Given the description of an element on the screen output the (x, y) to click on. 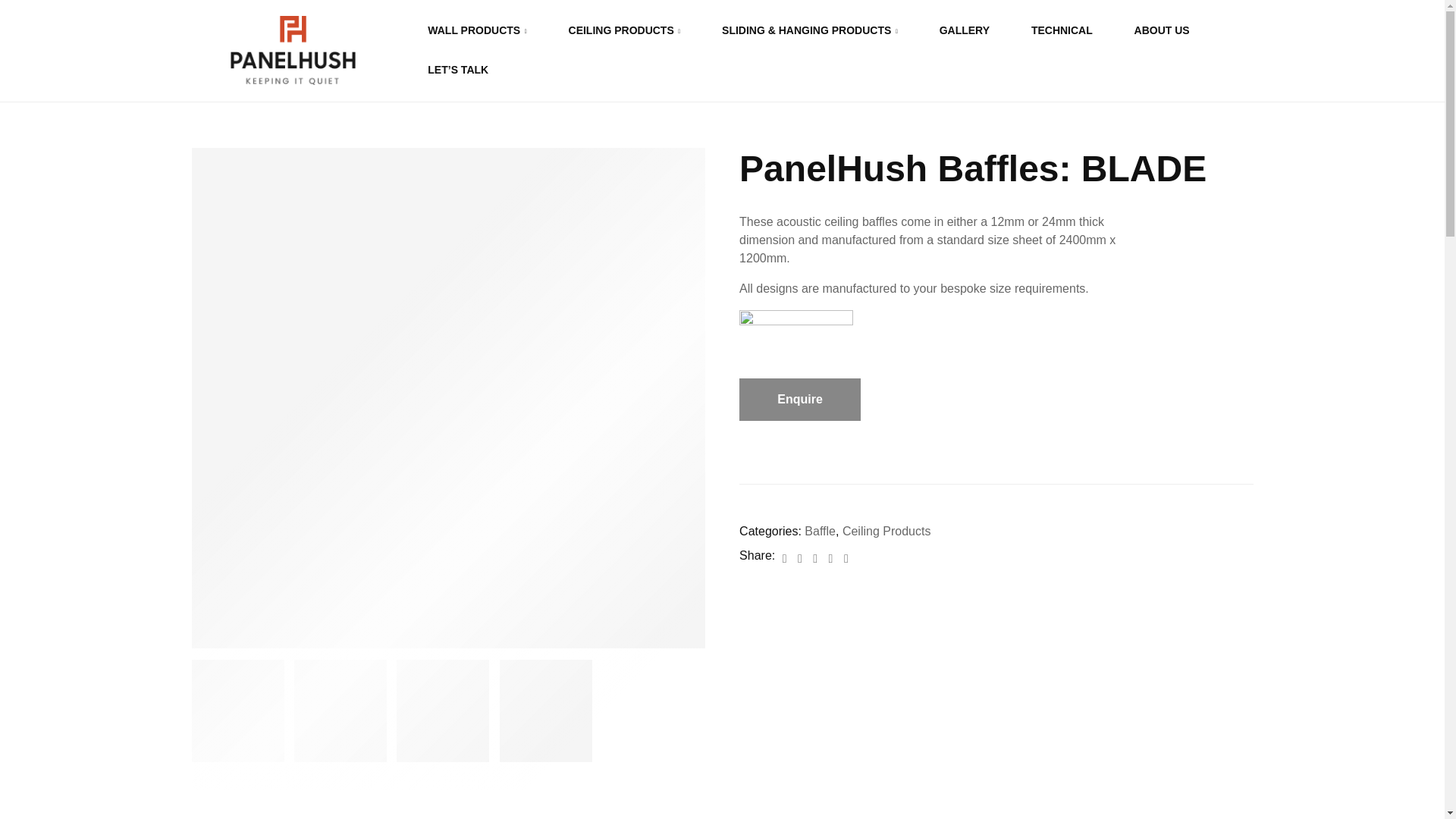
ABOUT US (1161, 30)
Enquire (799, 399)
CEILING PRODUCTS (623, 30)
GALLERY (964, 30)
Baffle (820, 530)
WALL PRODUCTS (477, 30)
Ceiling Products (887, 530)
TECHNICAL (1061, 30)
